Given the description of an element on the screen output the (x, y) to click on. 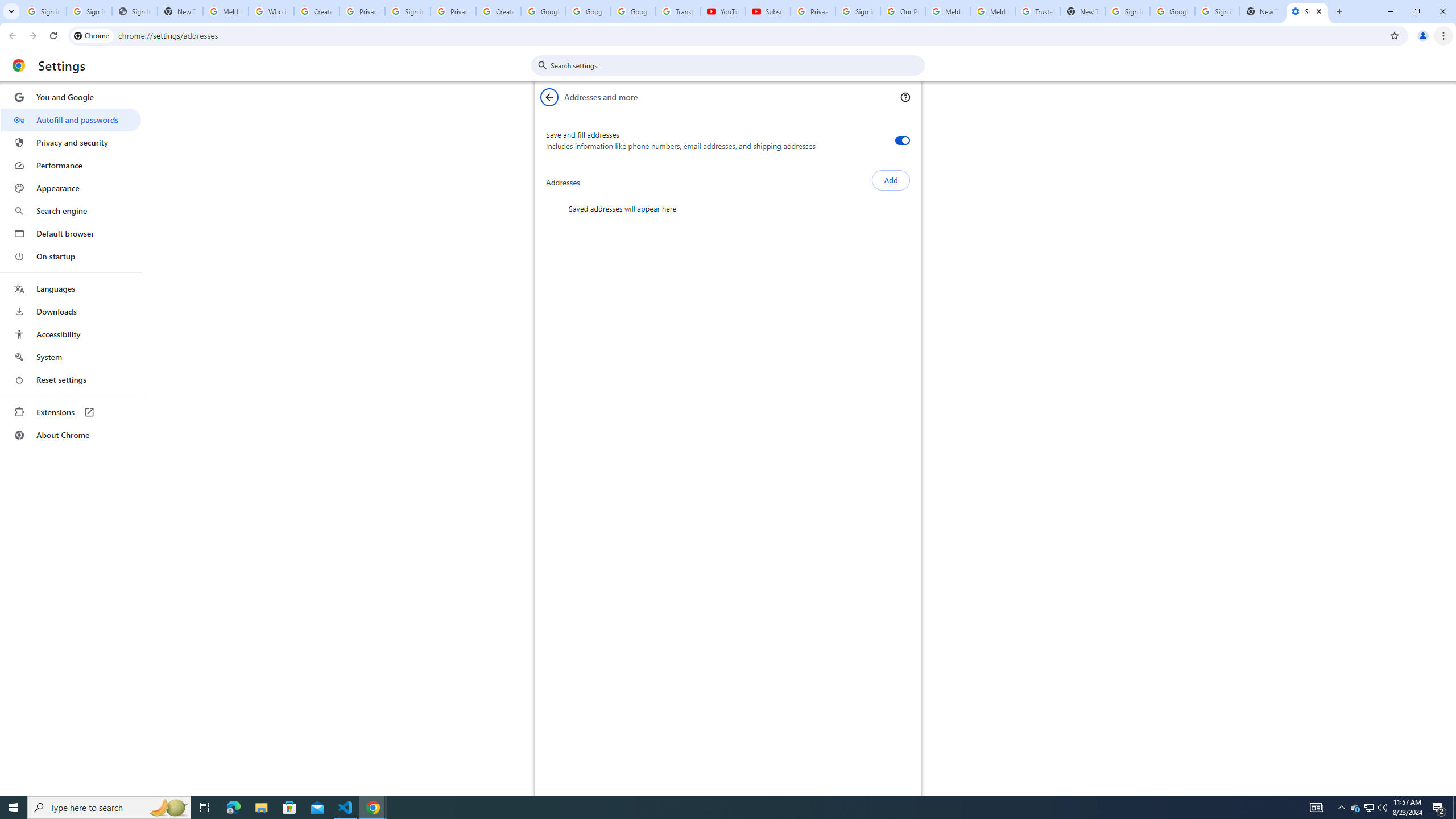
Appearance (70, 187)
Reset settings (70, 379)
Autofill and passwords (70, 119)
Sign in - Google Accounts (1216, 11)
New Tab (1262, 11)
